Given the description of an element on the screen output the (x, y) to click on. 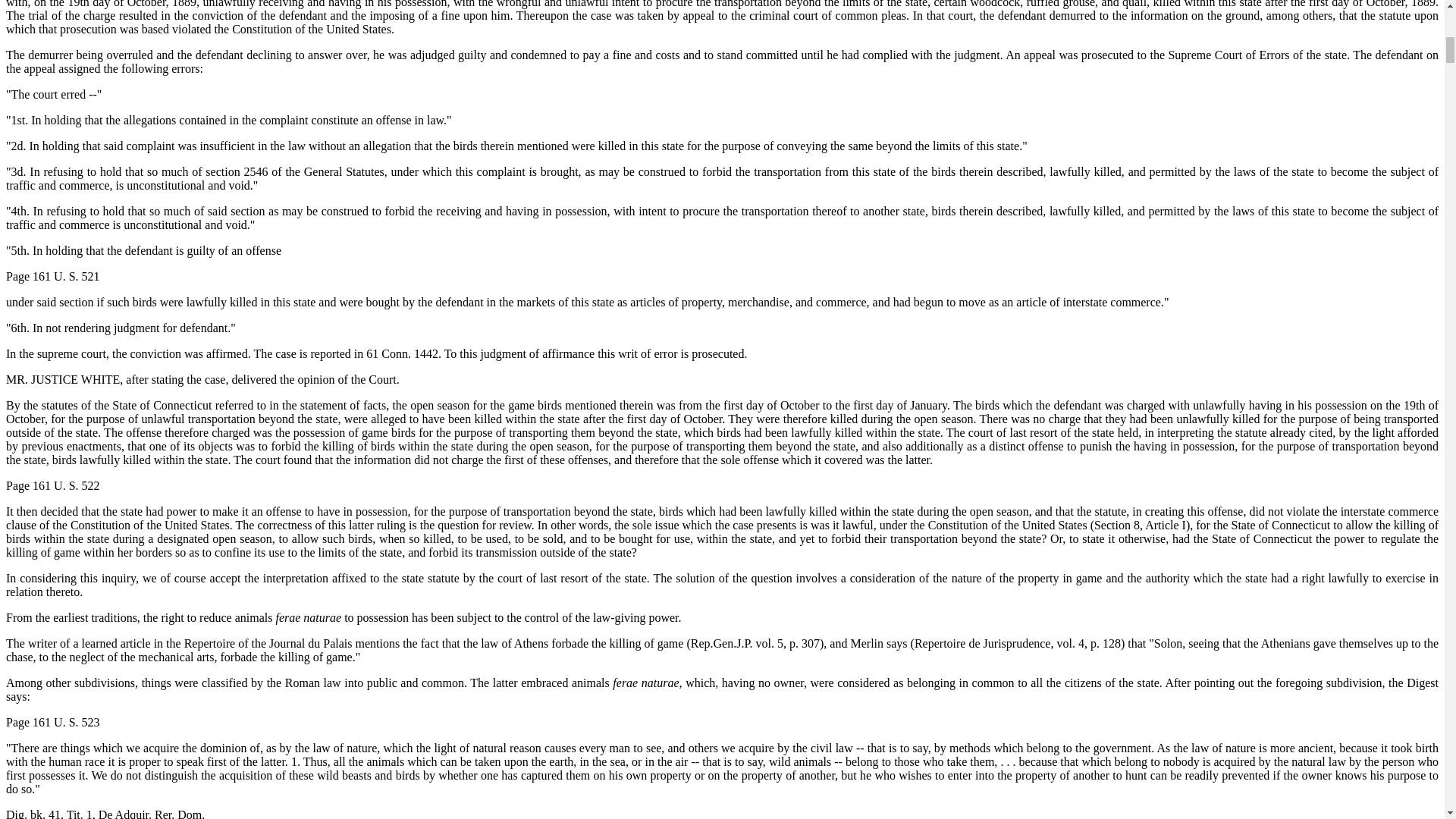
Page 161 U. S. 521 (52, 276)
Page 161 U. S. 523 (52, 721)
Page 161 U. S. 522 (52, 485)
